Given the description of an element on the screen output the (x, y) to click on. 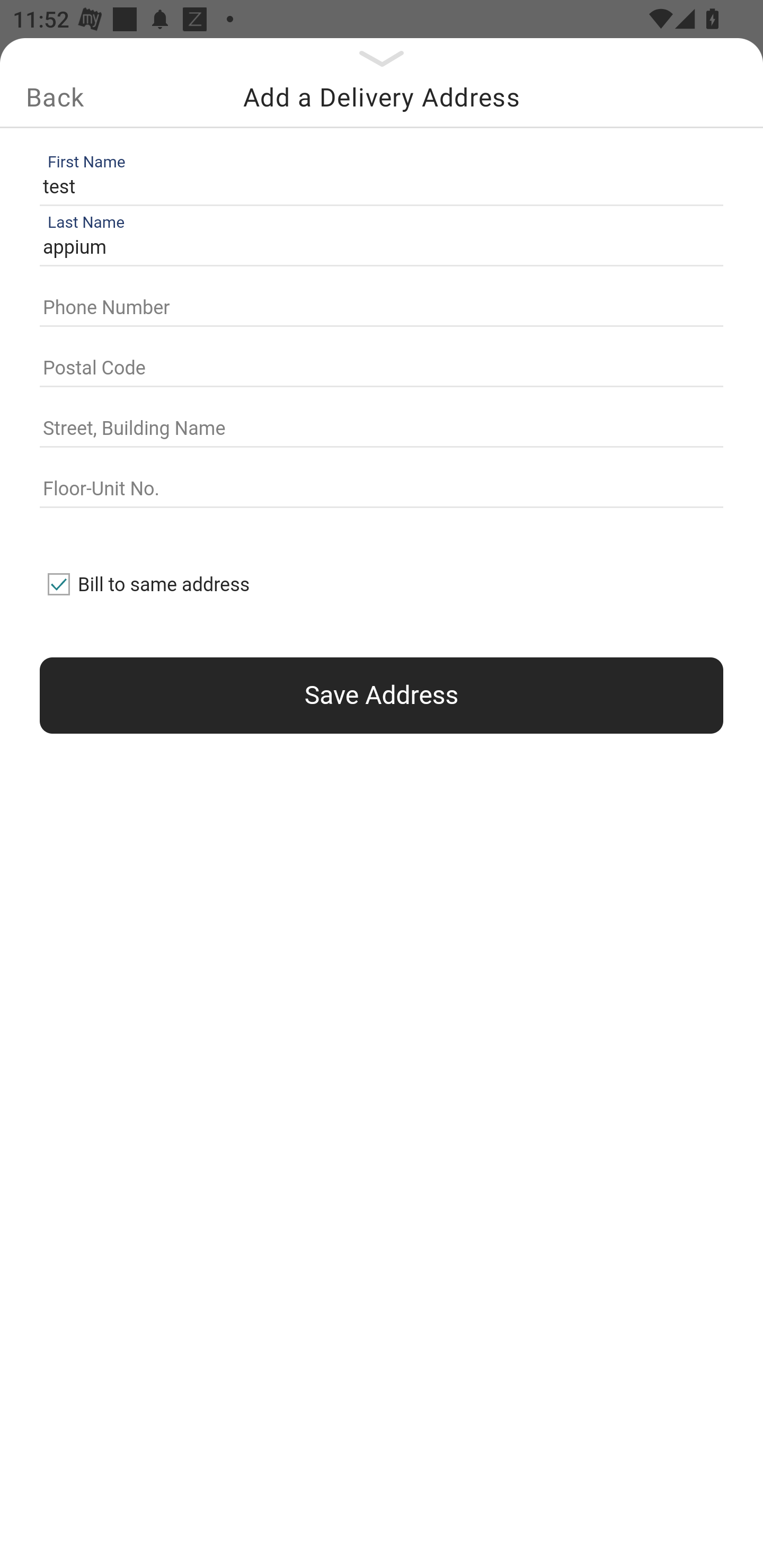
Back (54, 96)
Add a Delivery Address (381, 96)
test (377, 186)
appium (377, 247)
Save Address (381, 694)
